Given the description of an element on the screen output the (x, y) to click on. 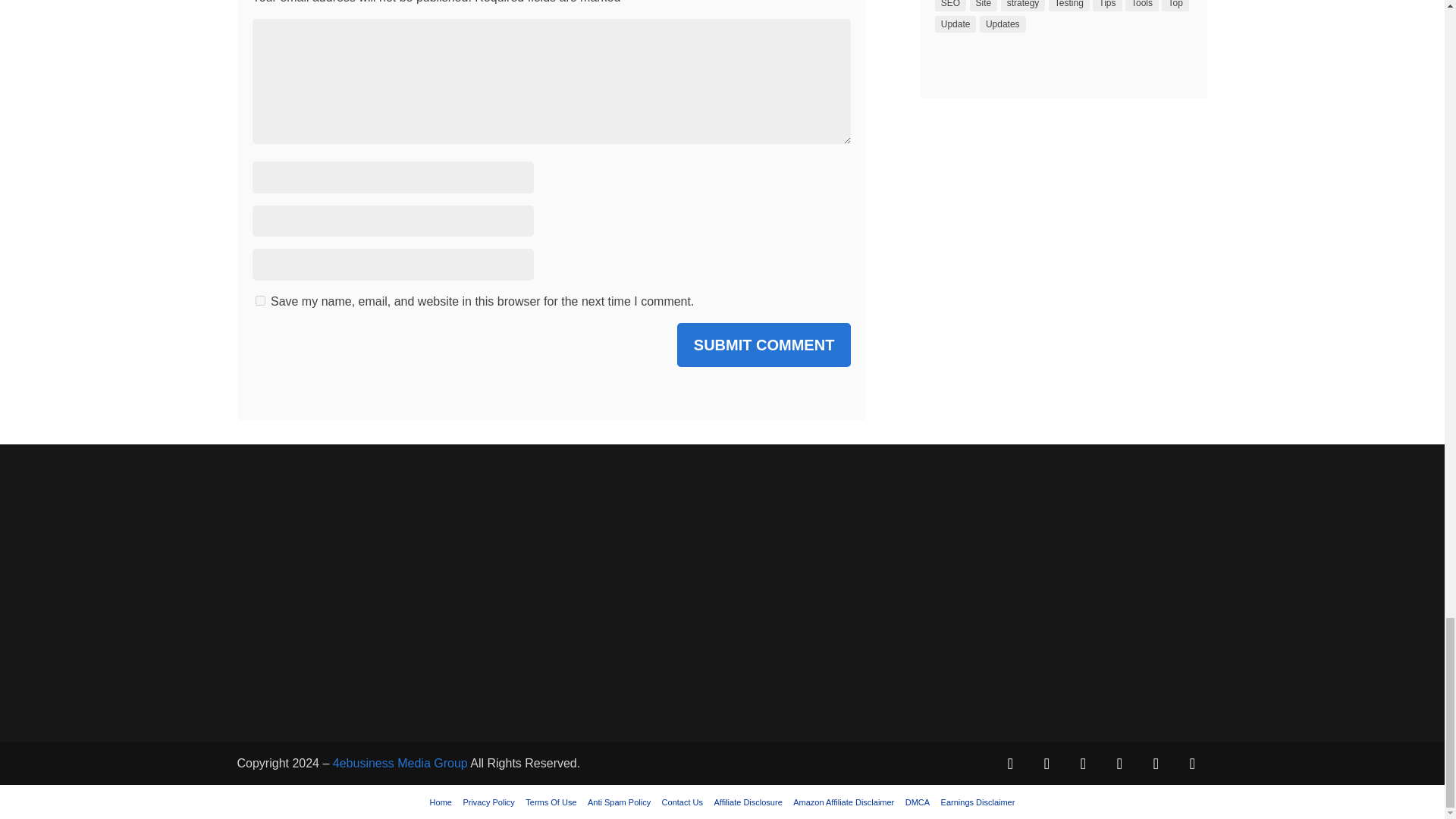
Follow on RSS (1191, 763)
Follow on X (1045, 763)
Follow on Facebook (1009, 763)
Follow on Pinterest (1082, 763)
SUBMIT COMMENT (764, 344)
yes (259, 300)
Follow on LinkedIn (1118, 763)
Follow on Youtube (1155, 763)
